Given the description of an element on the screen output the (x, y) to click on. 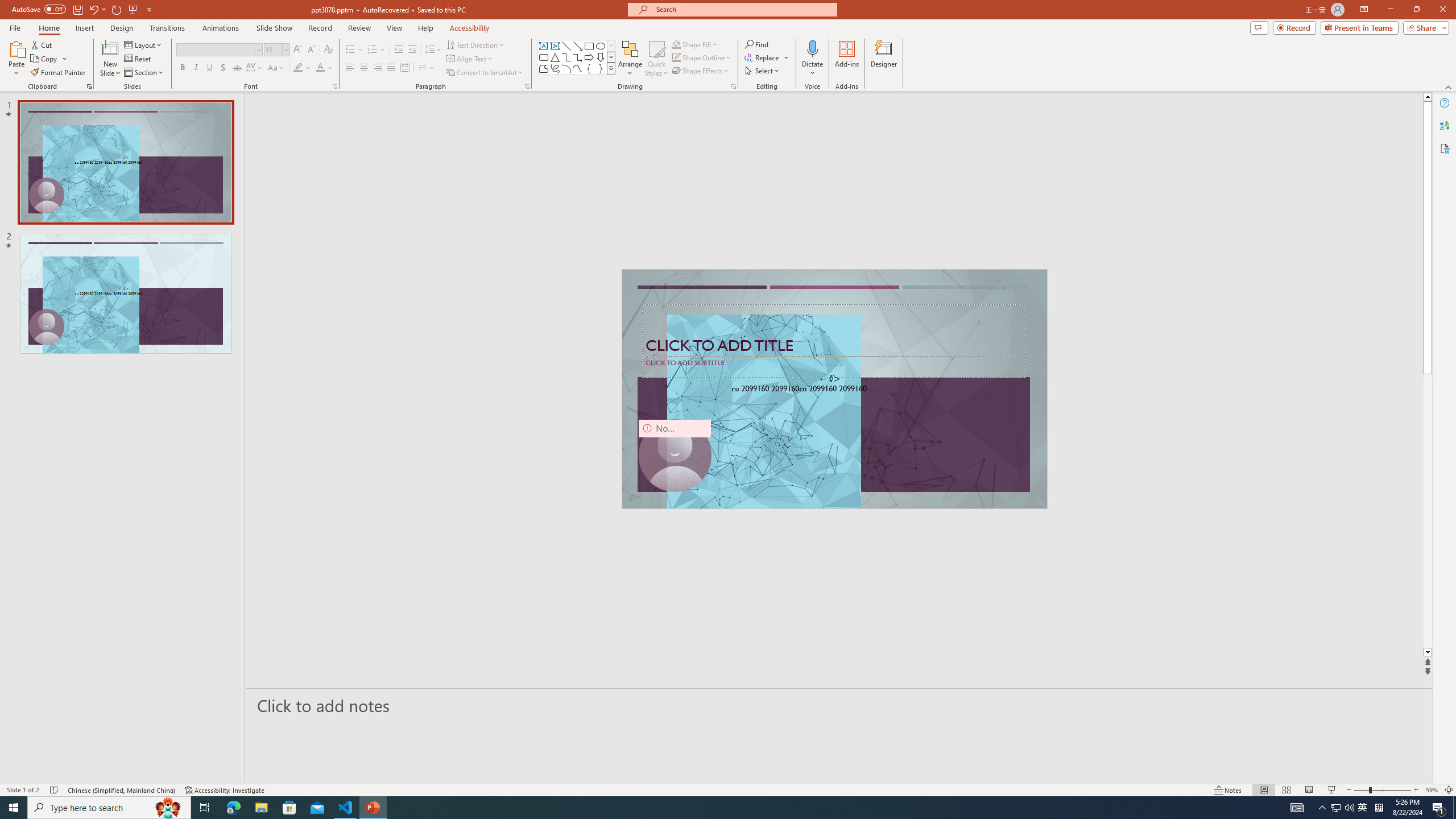
Isosceles Triangle (554, 57)
Align Text (470, 58)
Shape Outline Green, Accent 1 (675, 56)
Center (363, 67)
Justify (390, 67)
Shape Fill Dark Green, Accent 2 (675, 44)
Format Painter (58, 72)
Text Highlight Color Yellow (297, 67)
